Given the description of an element on the screen output the (x, y) to click on. 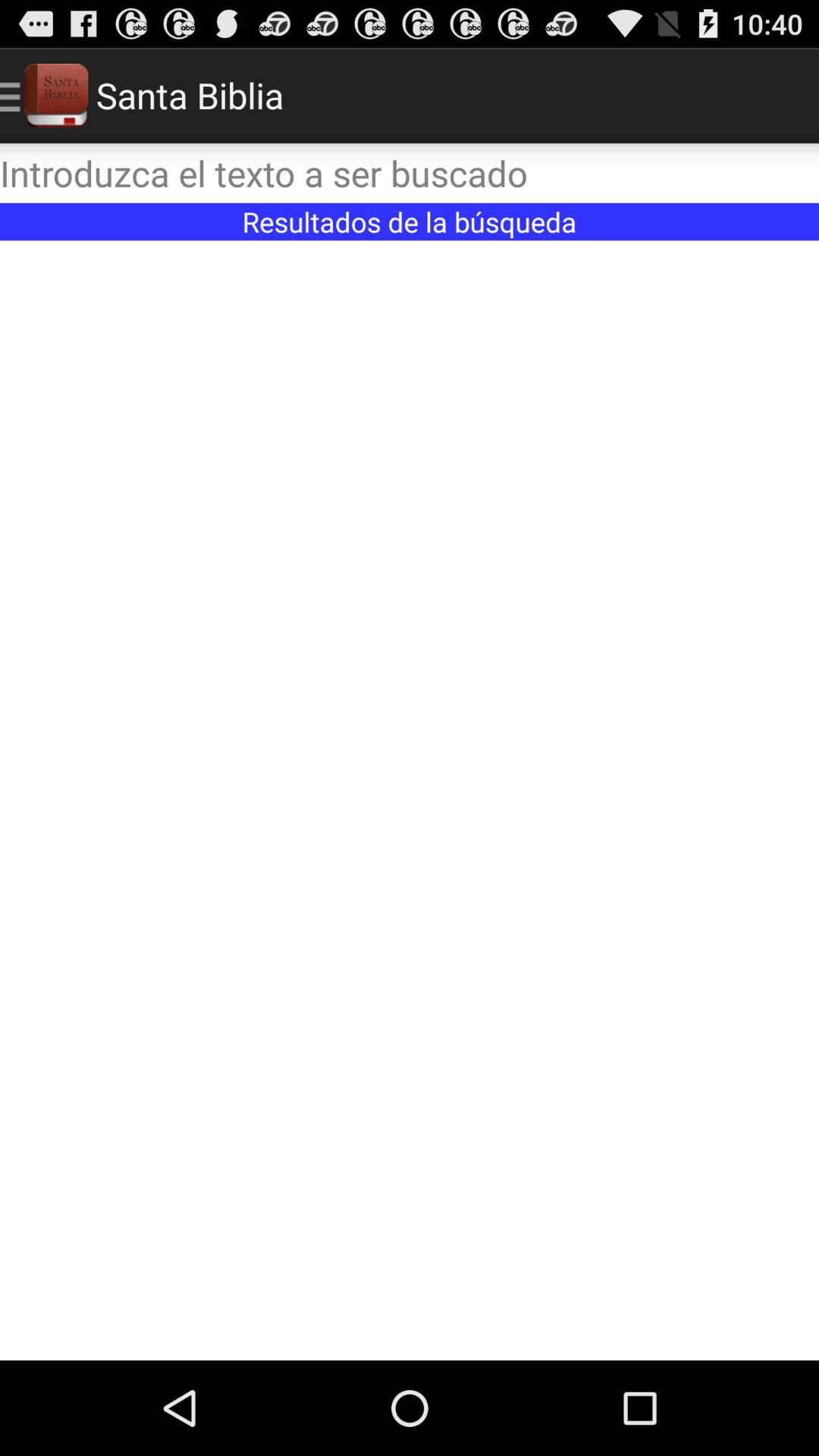
enter text (409, 173)
